Given the description of an element on the screen output the (x, y) to click on. 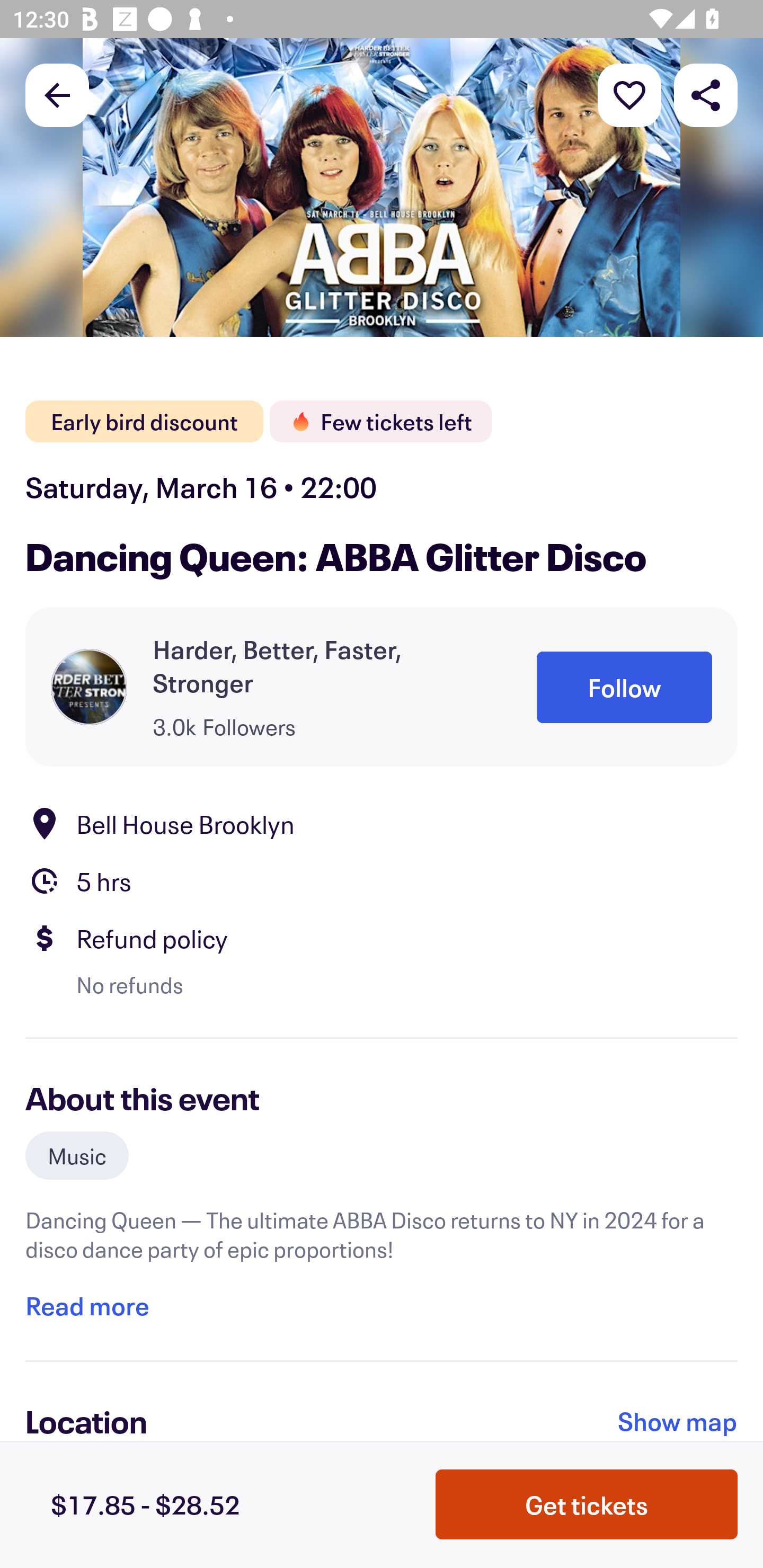
Back (57, 94)
More (629, 94)
Share (705, 94)
Early bird discount (144, 421)
Harder, Better, Faster, Stronger (319, 665)
Organizer profile picture (89, 686)
Follow (623, 687)
Location Bell House Brooklyn (381, 823)
Read more (87, 1304)
Show map (677, 1420)
Get tickets (586, 1504)
